Given the description of an element on the screen output the (x, y) to click on. 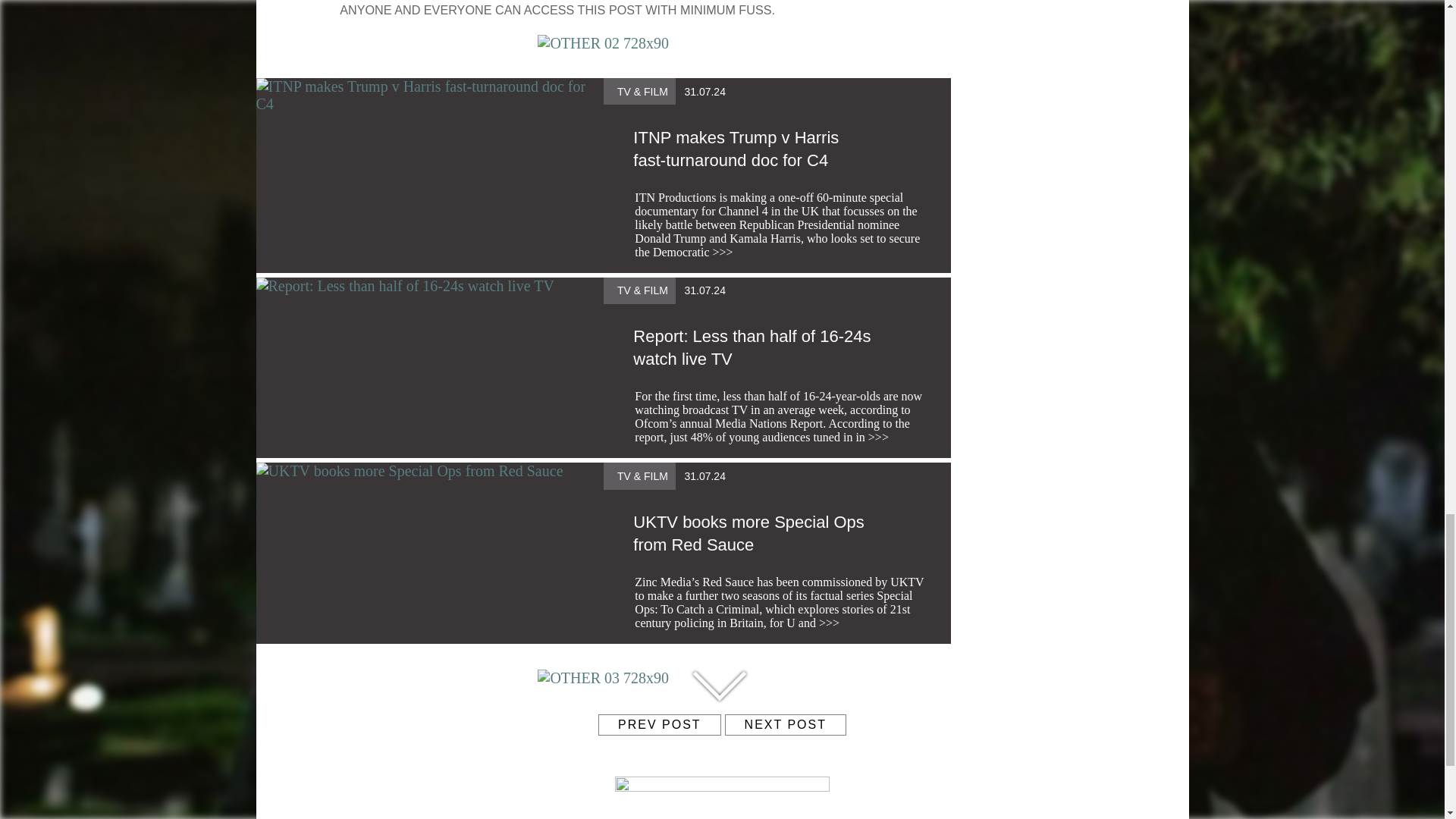
televisual-logo (721, 789)
